Given the description of an element on the screen output the (x, y) to click on. 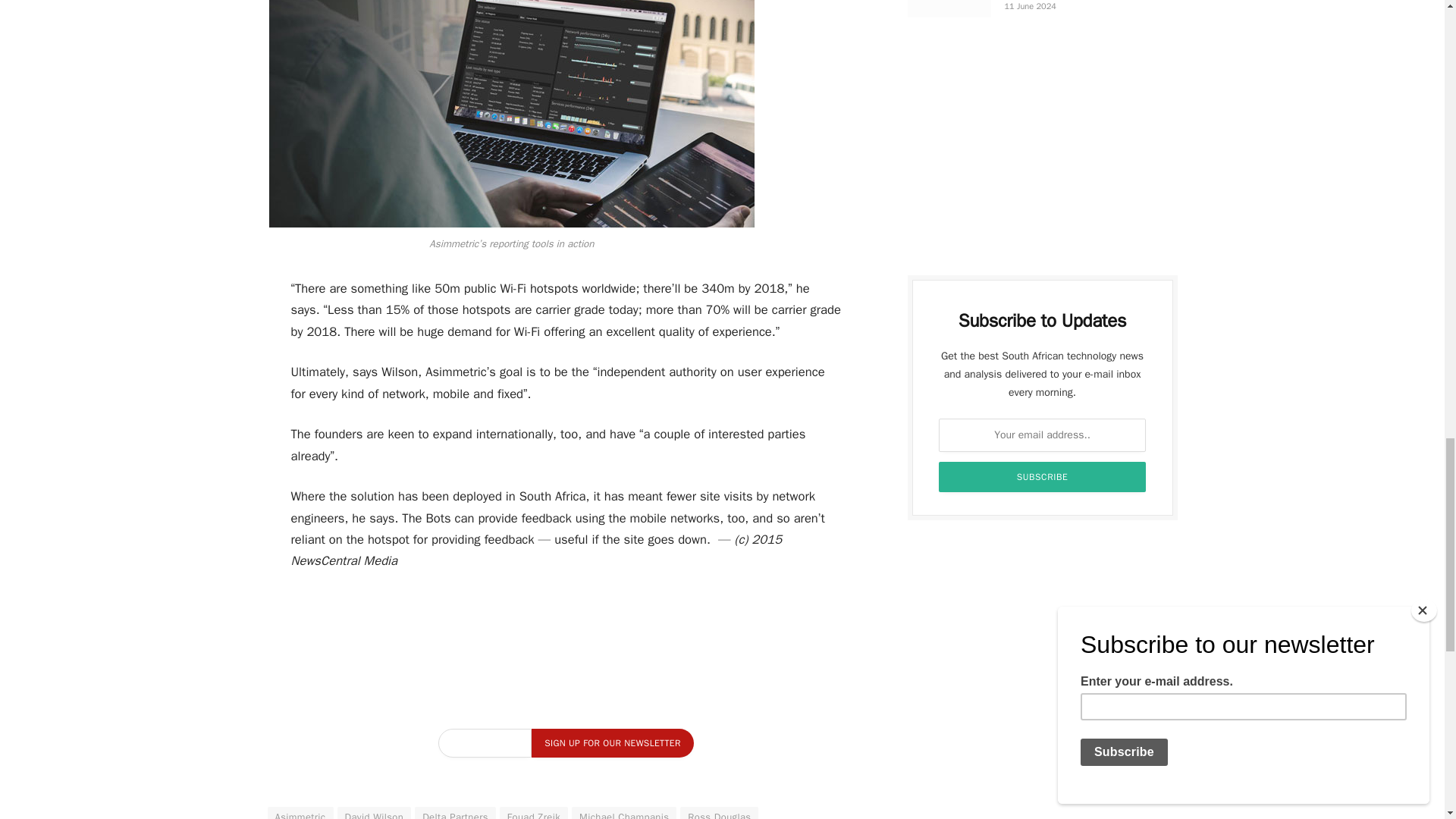
Subscribe (1043, 476)
Sign up for our newsletter (612, 742)
